Given the description of an element on the screen output the (x, y) to click on. 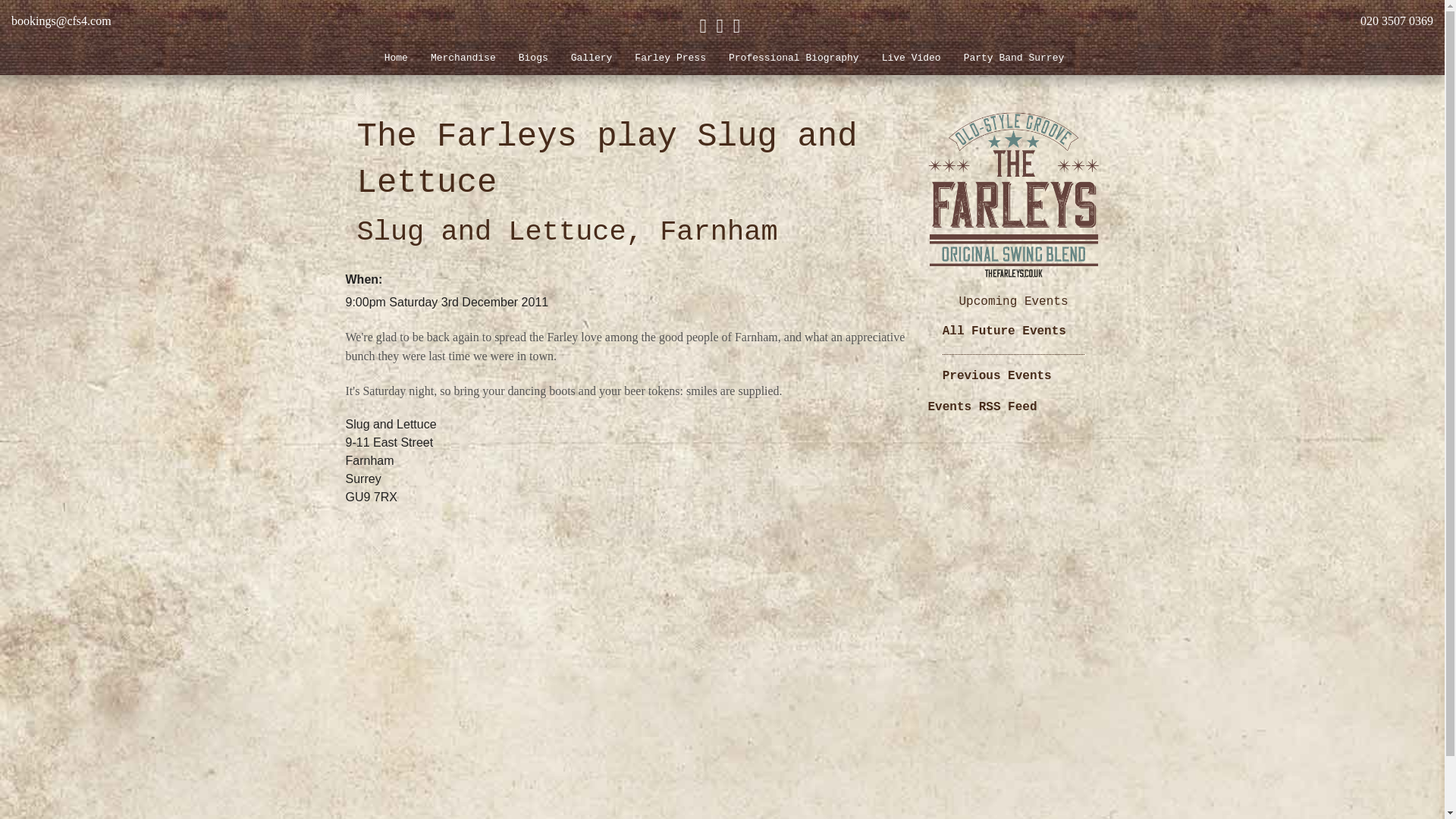
All Future Events (1003, 331)
Biogs (532, 57)
Farley Press (670, 57)
Party Band Surrey (1013, 57)
Professional Biography (793, 57)
Gallery (591, 57)
Events RSS Feed (982, 407)
Home (395, 57)
Merchandise (462, 57)
Previous Events (996, 376)
